Given the description of an element on the screen output the (x, y) to click on. 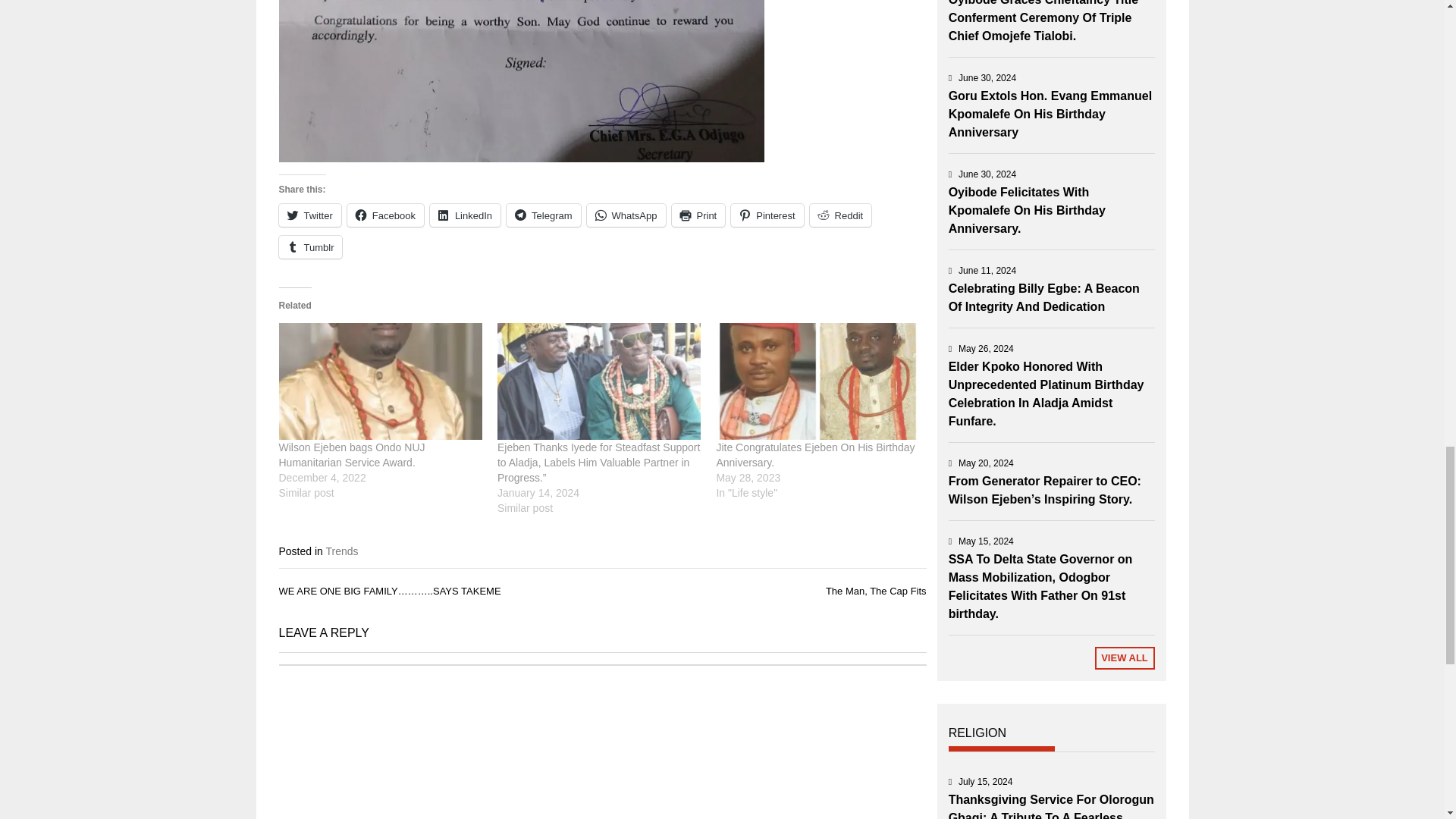
Click to share on Twitter (309, 214)
Reddit (840, 214)
Click to share on Facebook (385, 214)
Pinterest (766, 214)
Click to print (698, 214)
Facebook (385, 214)
LinkedIn (464, 214)
Print (698, 214)
WhatsApp (625, 214)
Click to share on WhatsApp (625, 214)
Twitter (309, 214)
Jite Congratulates Ejeben On His Birthday Anniversary. (815, 454)
Click to share on Telegram (542, 214)
Click to share on LinkedIn (464, 214)
Telegram (542, 214)
